Given the description of an element on the screen output the (x, y) to click on. 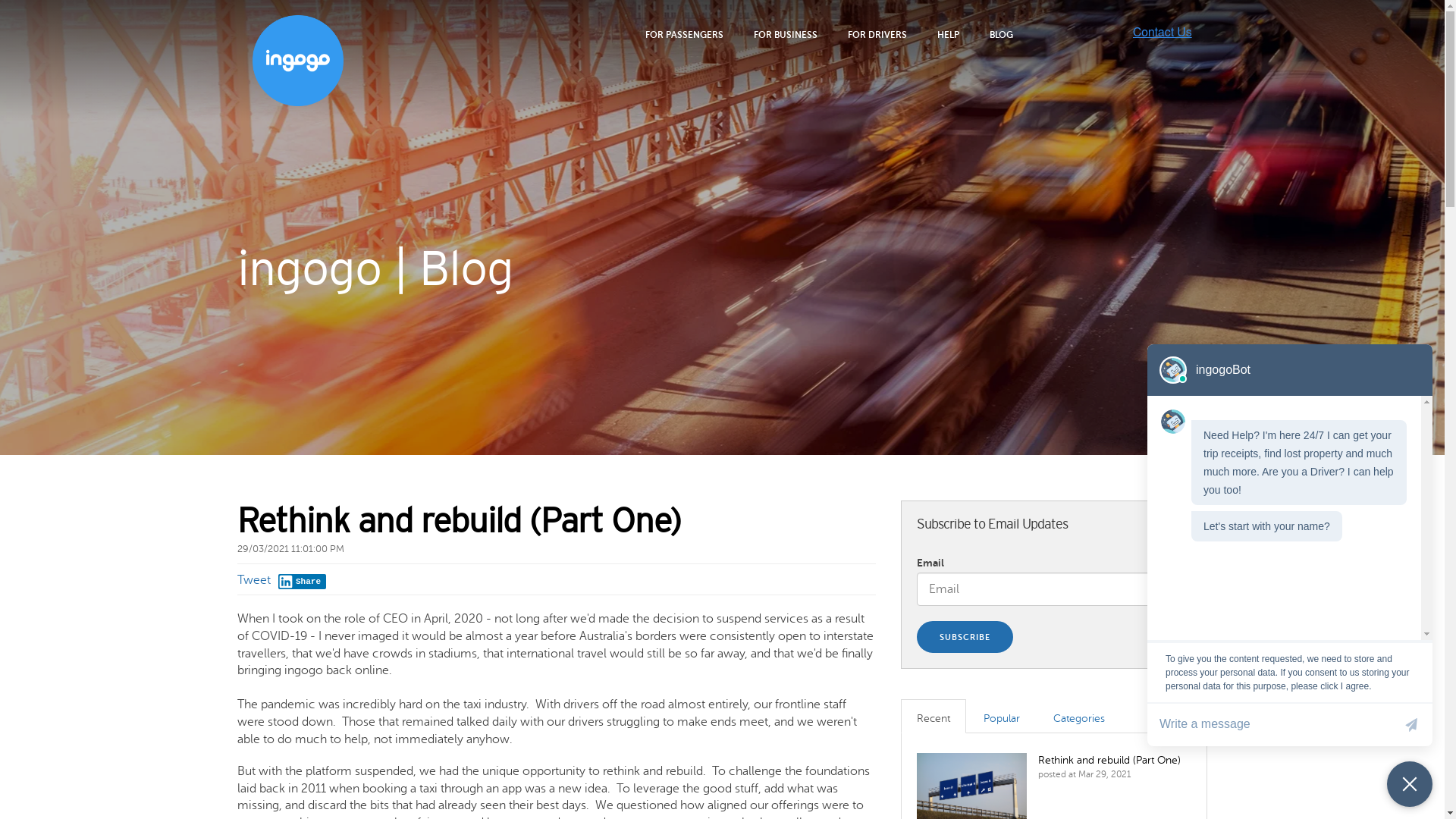
Tweet Element type: text (252, 579)
HELP Element type: text (947, 35)
Rethink and rebuild (Part One) Element type: text (1109, 759)
FOR PASSENGERS Element type: text (683, 35)
FOR DRIVERS Element type: text (876, 35)
Subscribe Element type: text (964, 636)
Recent Element type: text (933, 716)
ingogo Logo 200x200px Element type: hover (296, 60)
Categories Element type: text (1078, 716)
BLOG Element type: text (1001, 35)
FOR BUSINESS Element type: text (784, 35)
Share Element type: text (301, 581)
Popular Element type: text (1001, 716)
Rethink and rebuild (Part One) Element type: text (458, 520)
